Given the description of an element on the screen output the (x, y) to click on. 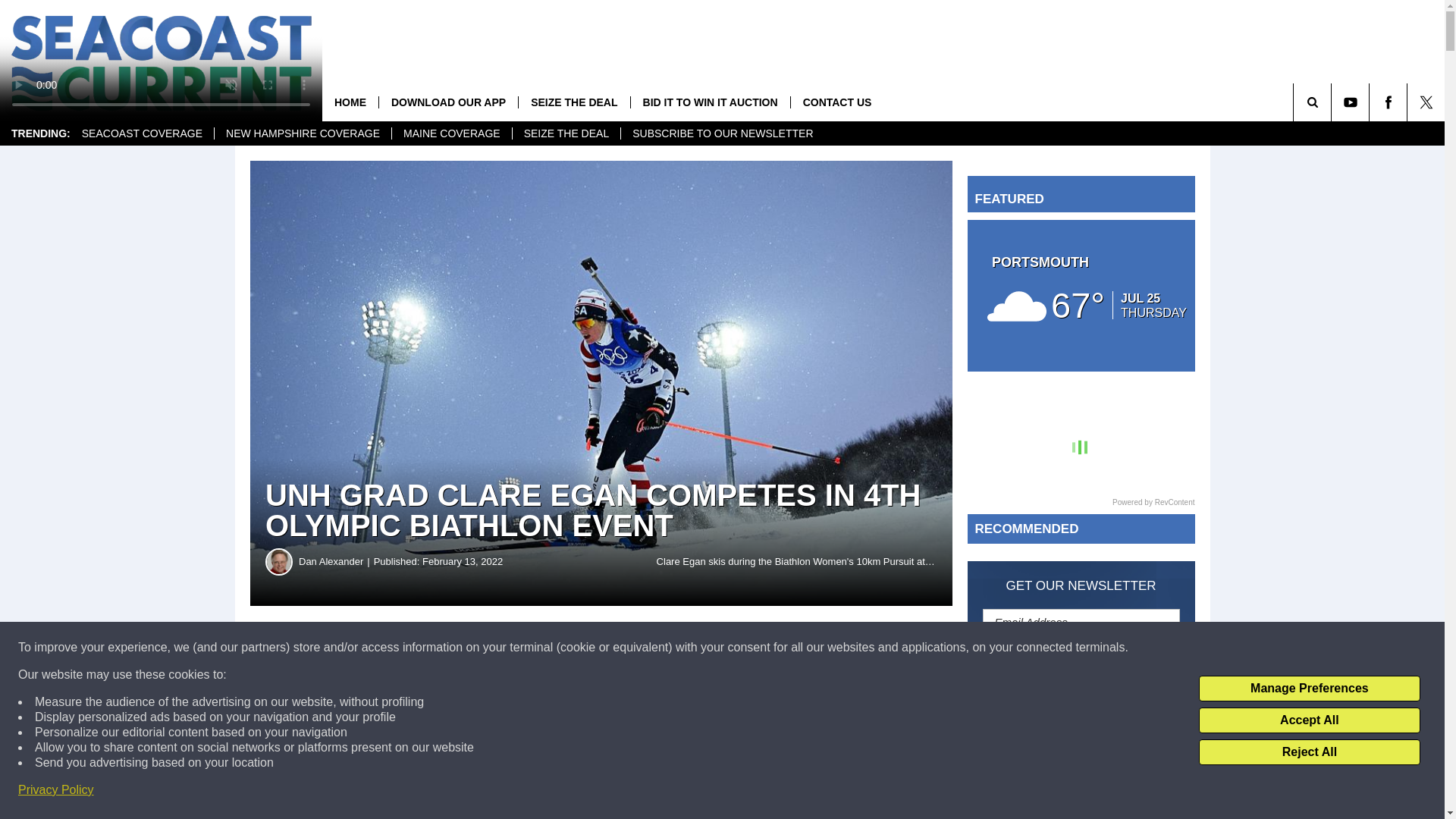
SEARCH (1333, 102)
HOME (349, 102)
BID IT TO WIN IT AUCTION (710, 102)
Visit us on Facebook (1388, 102)
SEIZE THE DEAL (566, 133)
SEARCH (1333, 102)
CONTACT US (836, 102)
Visit us on Youtube (1350, 102)
SUBSCRIBE TO OUR NEWSLETTER (722, 133)
Reject All (1309, 751)
Share on Facebook (460, 647)
Accept All (1309, 720)
SEACOAST COVERAGE (141, 133)
SEIZE THE DEAL (573, 102)
Share on Twitter (741, 647)
